Given the description of an element on the screen output the (x, y) to click on. 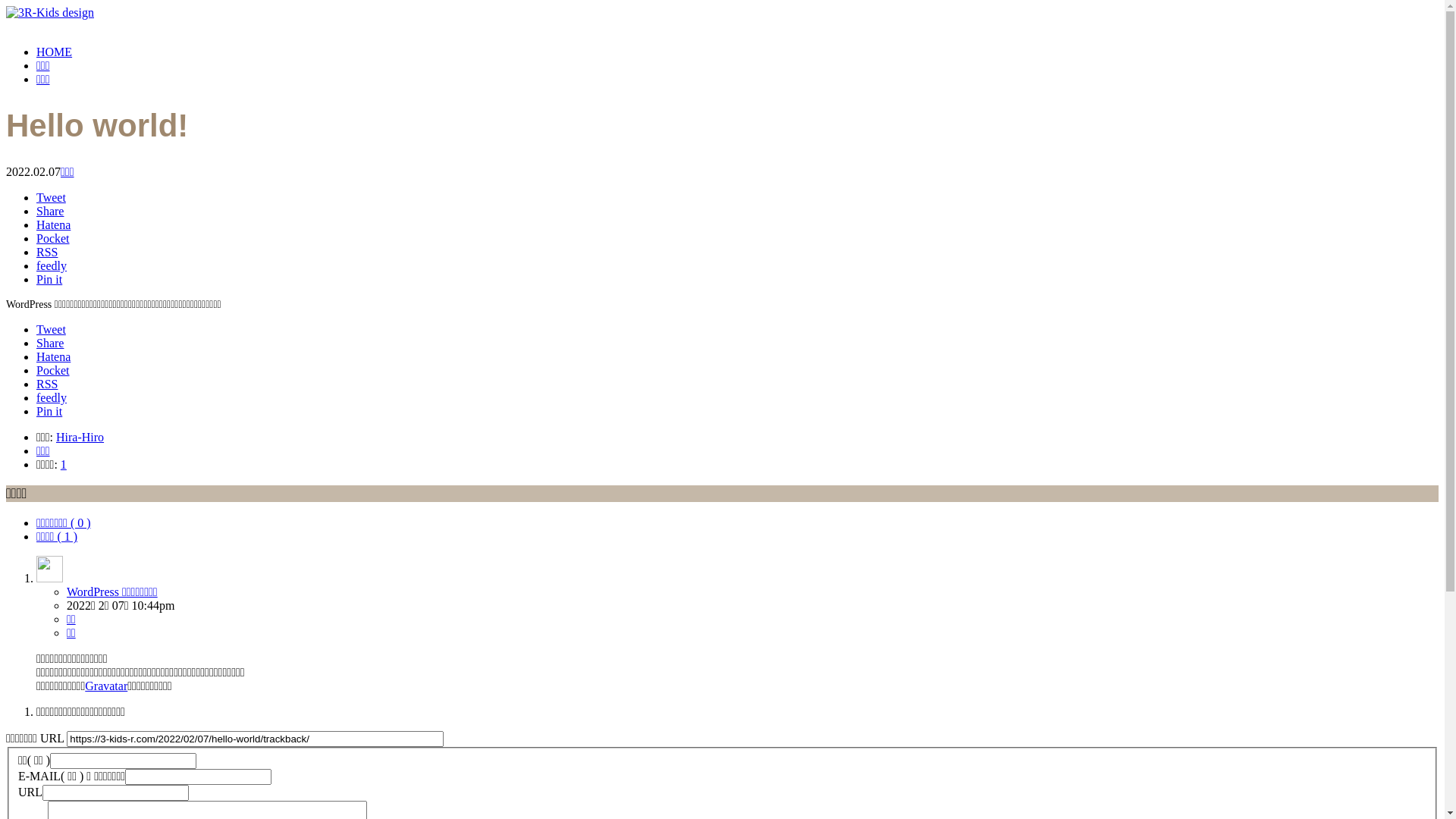
Hira-Hiro Element type: text (79, 436)
RSS Element type: text (46, 383)
Hatena Element type: text (53, 224)
HOME Element type: text (54, 51)
feedly Element type: text (51, 397)
feedly Element type: text (51, 265)
Tweet Element type: text (50, 329)
Share Element type: text (49, 342)
Pocket Element type: text (52, 238)
1 Element type: text (63, 464)
Pin it Element type: text (49, 279)
Gravatar Element type: text (105, 685)
Tweet Element type: text (50, 197)
Pin it Element type: text (49, 410)
RSS Element type: text (46, 251)
Pocket Element type: text (52, 370)
Share Element type: text (49, 210)
Hatena Element type: text (53, 356)
